Given the description of an element on the screen output the (x, y) to click on. 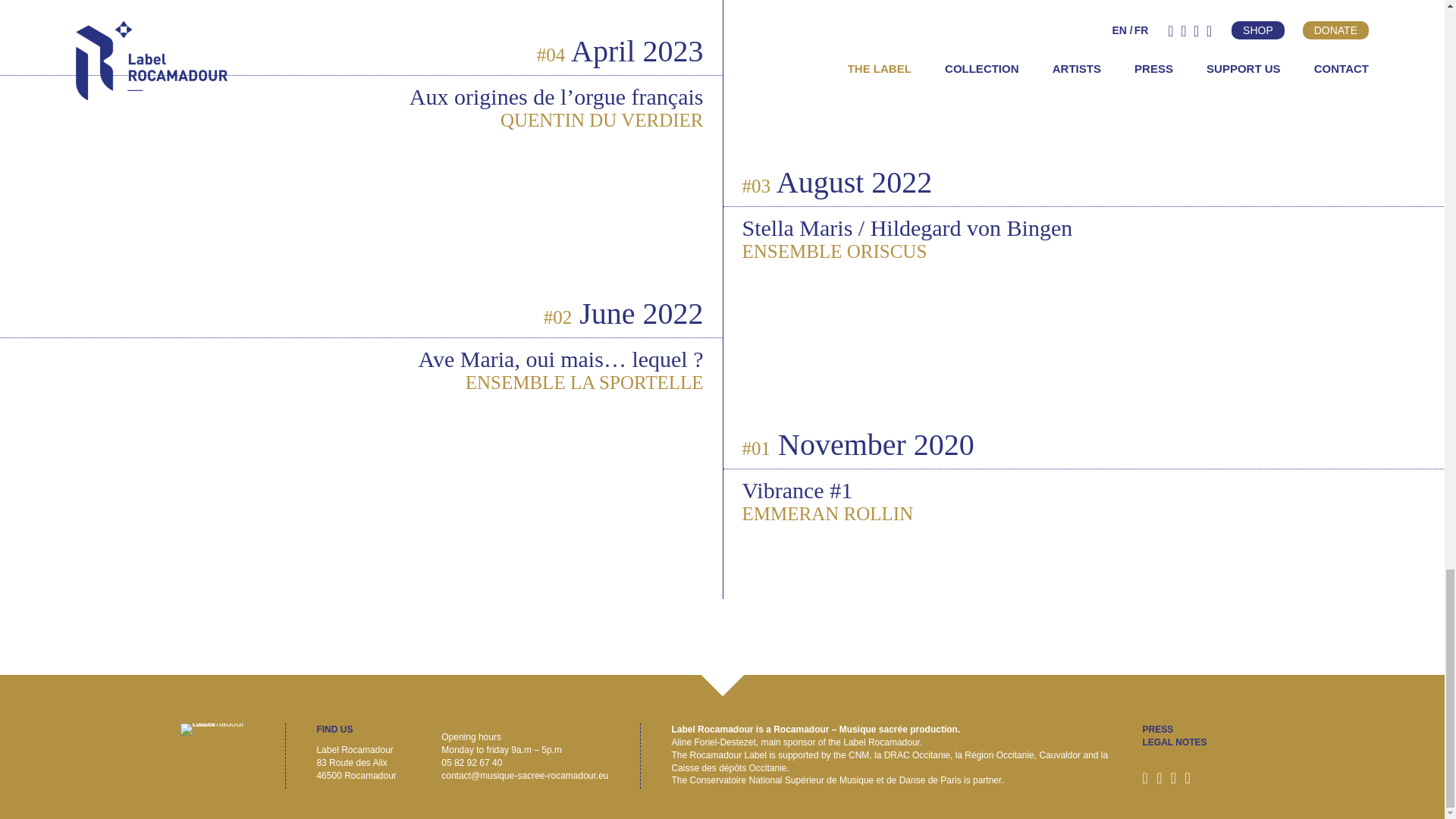
CNM (858, 755)
DRAC Occitanie (916, 755)
Cauvaldor (1059, 755)
Label Rocamadour (218, 729)
